Given the description of an element on the screen output the (x, y) to click on. 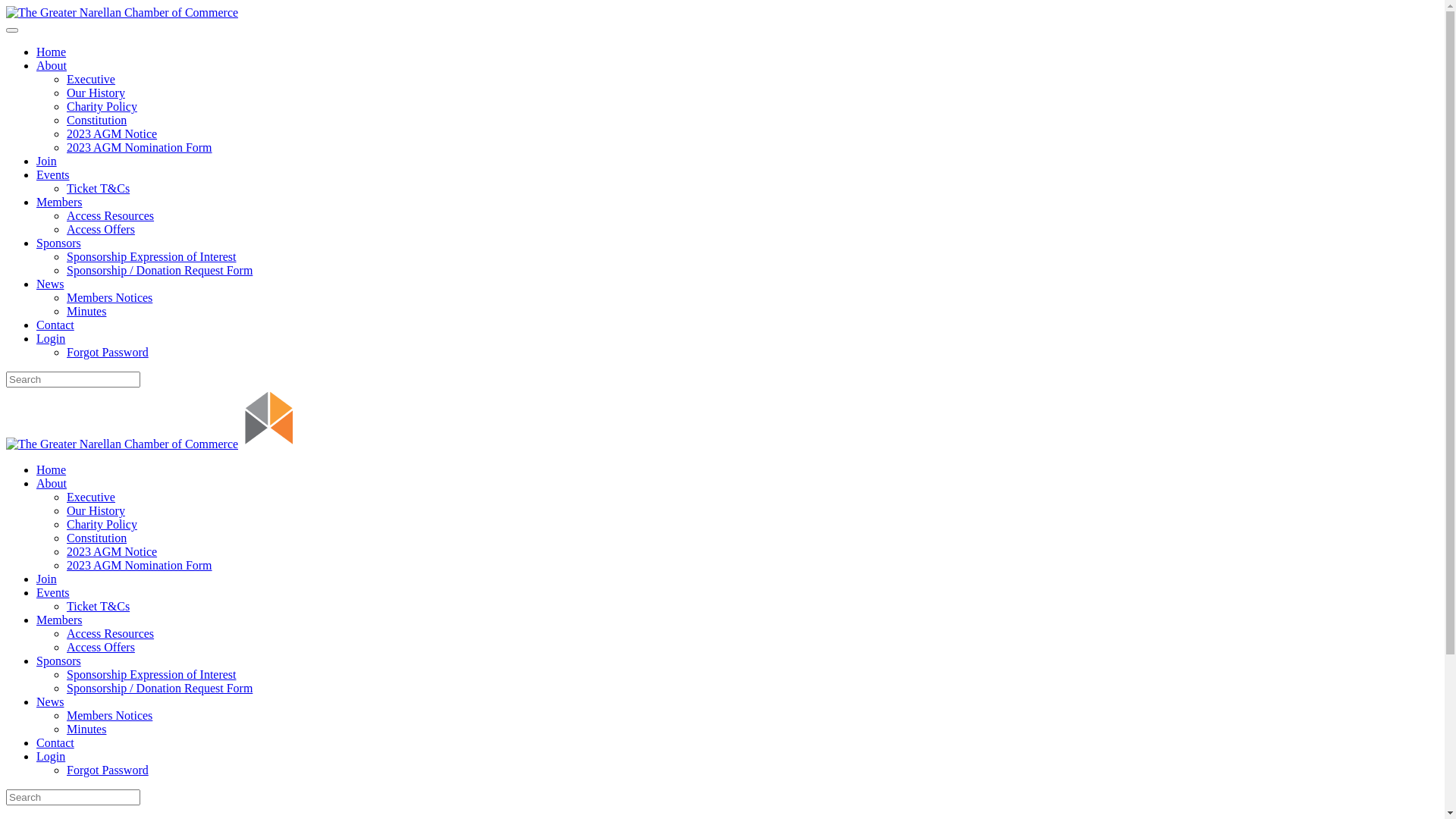
Minutes Element type: text (86, 728)
Sponsorship Expression of Interest Element type: text (151, 674)
Events Element type: text (52, 174)
Charity Policy Element type: text (101, 106)
Events Element type: text (52, 592)
About Element type: text (51, 482)
Members Notices Element type: text (109, 715)
Sponsors Element type: text (58, 660)
Members Element type: text (58, 619)
About Element type: text (51, 65)
Access Offers Element type: text (100, 646)
Ticket T&Cs Element type: text (97, 188)
Executive Element type: text (90, 78)
Contact Element type: text (55, 742)
Charity Policy Element type: text (101, 523)
News Element type: text (49, 283)
Home Element type: text (50, 51)
Home Element type: text (50, 469)
Minutes Element type: text (86, 310)
Sponsorship / Donation Request Form Element type: text (159, 269)
Access Resources Element type: text (109, 633)
Sponsorship / Donation Request Form Element type: text (159, 687)
Forgot Password Element type: text (107, 769)
Sponsorship Expression of Interest Element type: text (151, 256)
Login Element type: text (50, 338)
Contact Element type: text (55, 324)
Access Offers Element type: text (100, 228)
Our History Element type: text (95, 92)
News Element type: text (49, 701)
2023 AGM Notice Element type: text (111, 133)
Access Resources Element type: text (109, 215)
2023 AGM Nomination Form Element type: text (139, 564)
2023 AGM Nomination Form Element type: text (139, 147)
Members Notices Element type: text (109, 297)
Ticket T&Cs Element type: text (97, 605)
2023 AGM Notice Element type: text (111, 551)
Sponsors Element type: text (58, 242)
Join Element type: text (46, 578)
Executive Element type: text (90, 496)
Join Element type: text (46, 160)
Login Element type: text (50, 755)
Our History Element type: text (95, 510)
Constitution Element type: text (96, 119)
Forgot Password Element type: text (107, 351)
Constitution Element type: text (96, 537)
Members Element type: text (58, 201)
